Given the description of an element on the screen output the (x, y) to click on. 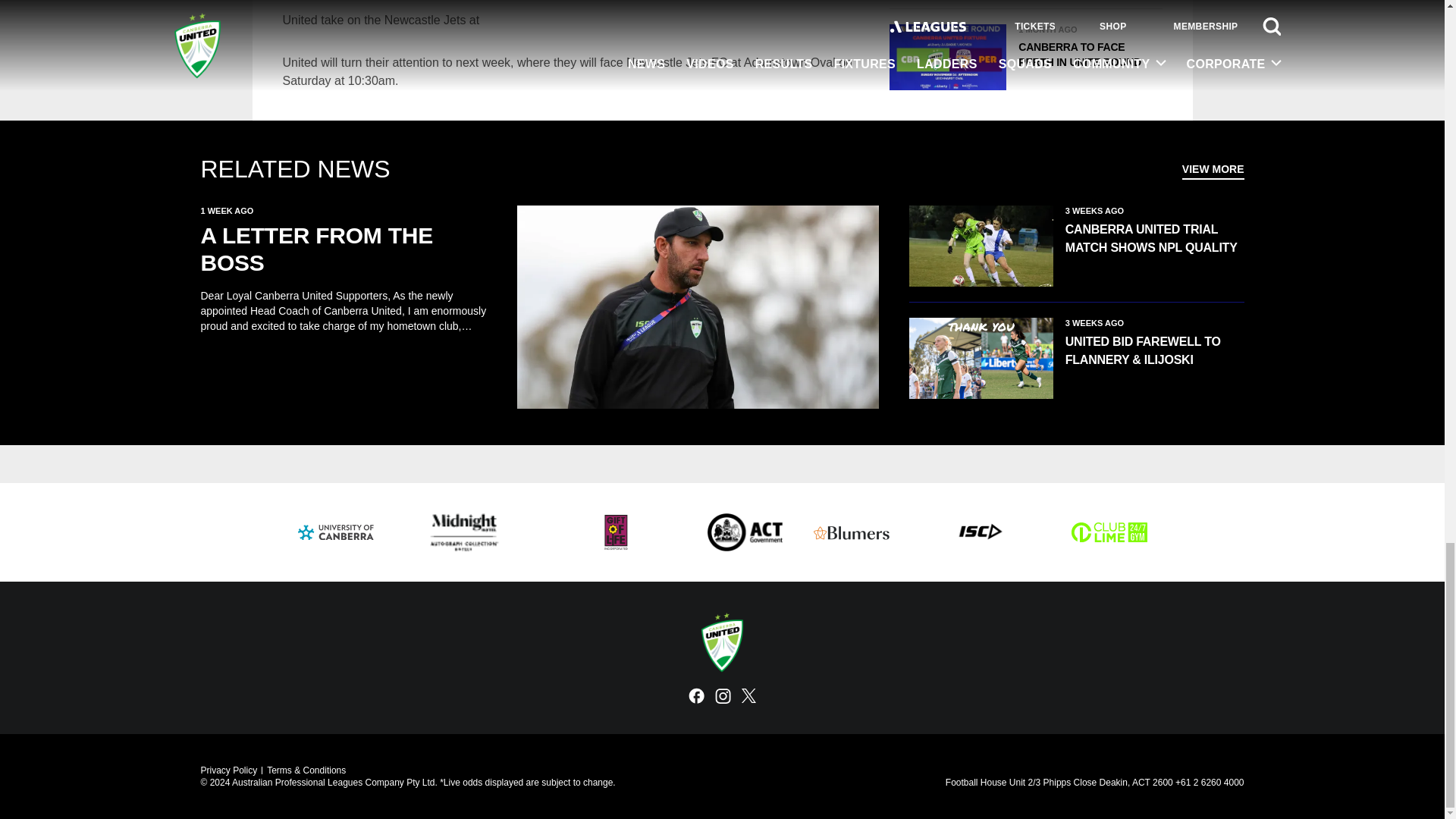
CBR (744, 532)
Midnight Hotel (463, 532)
Blumers Lawyers (850, 532)
University of Canberra (334, 532)
Gift of Life (615, 532)
Club Lime (1108, 532)
ISC Sport (979, 532)
